Given the description of an element on the screen output the (x, y) to click on. 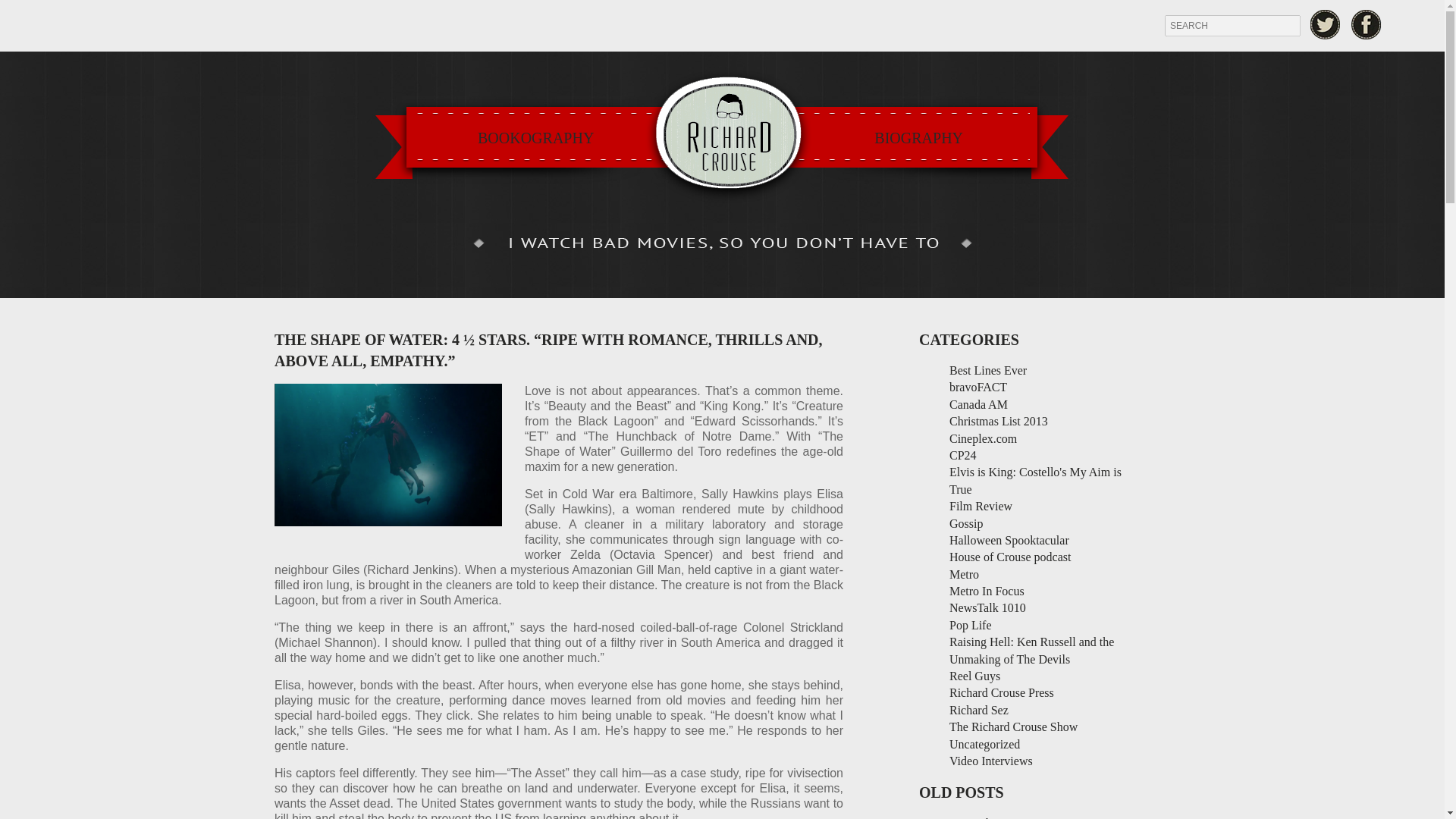
Twitter (1324, 24)
Halloween Spooktacular (1008, 540)
Best Lines Ever (987, 369)
Canada AM (978, 404)
Raising Hell: Ken Russell and the Unmaking of The Devils (1031, 650)
BIOGRAPHY (918, 137)
Cineplex.com (982, 438)
House of Crouse podcast (1009, 556)
Christmas List 2013 (998, 420)
Gossip (965, 522)
